Given the description of an element on the screen output the (x, y) to click on. 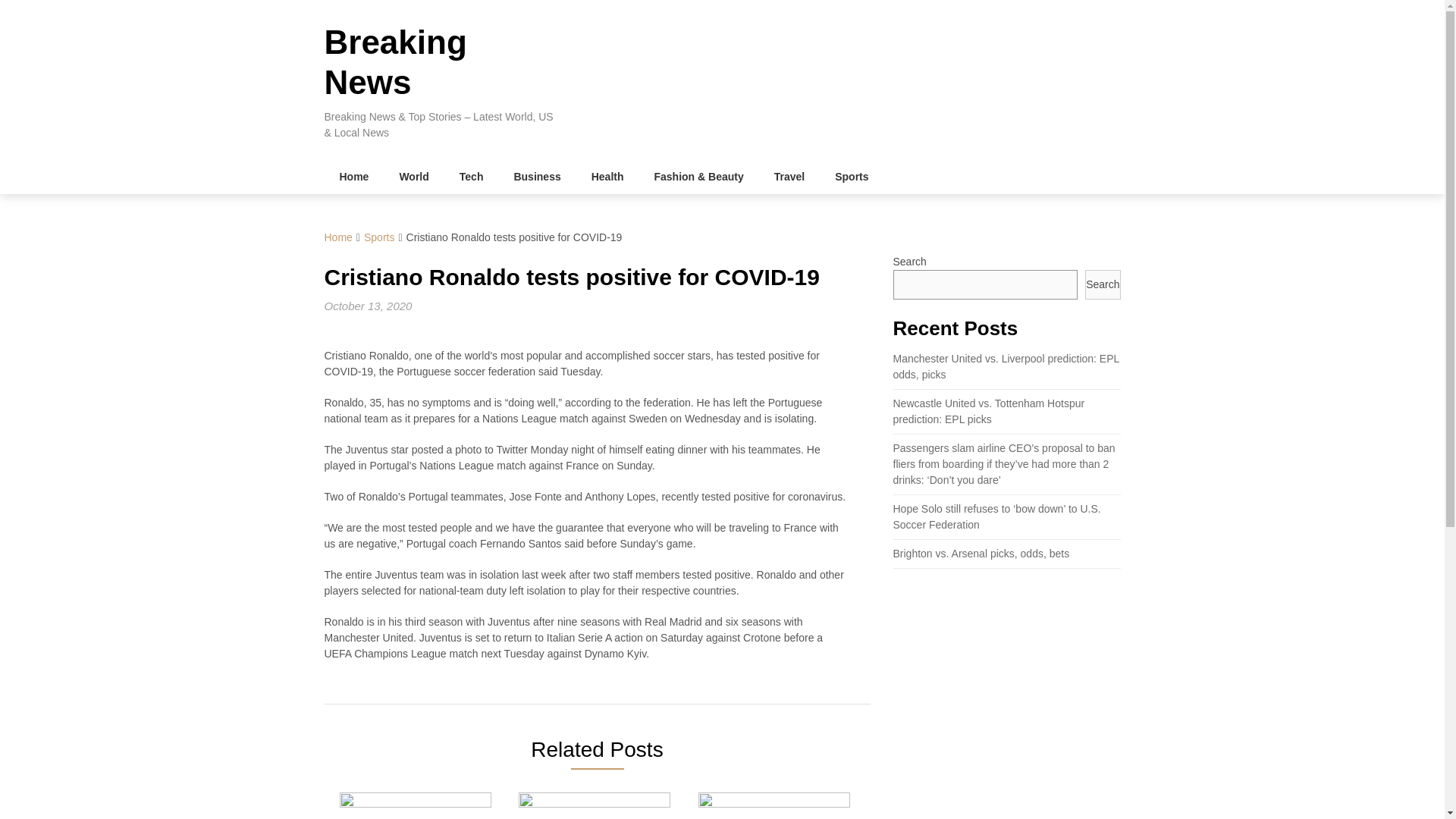
Home (338, 236)
Health (607, 176)
Manchester United vs. Liverpool prediction: EPL odds, picks (1006, 366)
Sports (379, 236)
Breaking News (395, 61)
Brighton vs. Arsenal picks, odds, bets (981, 553)
Newcastle United vs. Tottenham Hotspur prediction: EPL picks (988, 411)
Tech (471, 176)
Travel (788, 176)
